Given the description of an element on the screen output the (x, y) to click on. 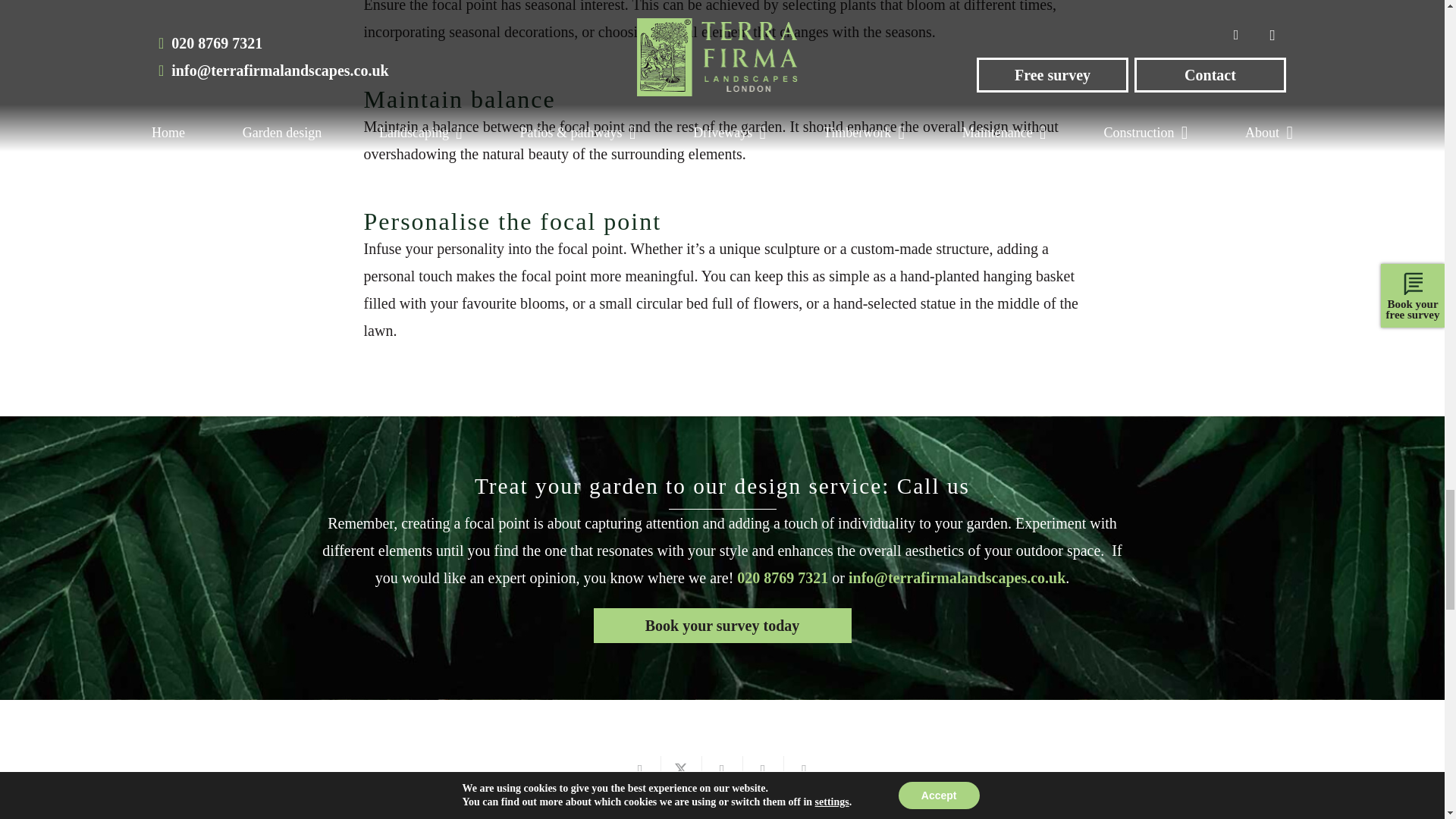
Tweet this (681, 768)
Share this (721, 768)
Share this (640, 768)
Pin this (763, 768)
Share this (804, 768)
